Given the description of an element on the screen output the (x, y) to click on. 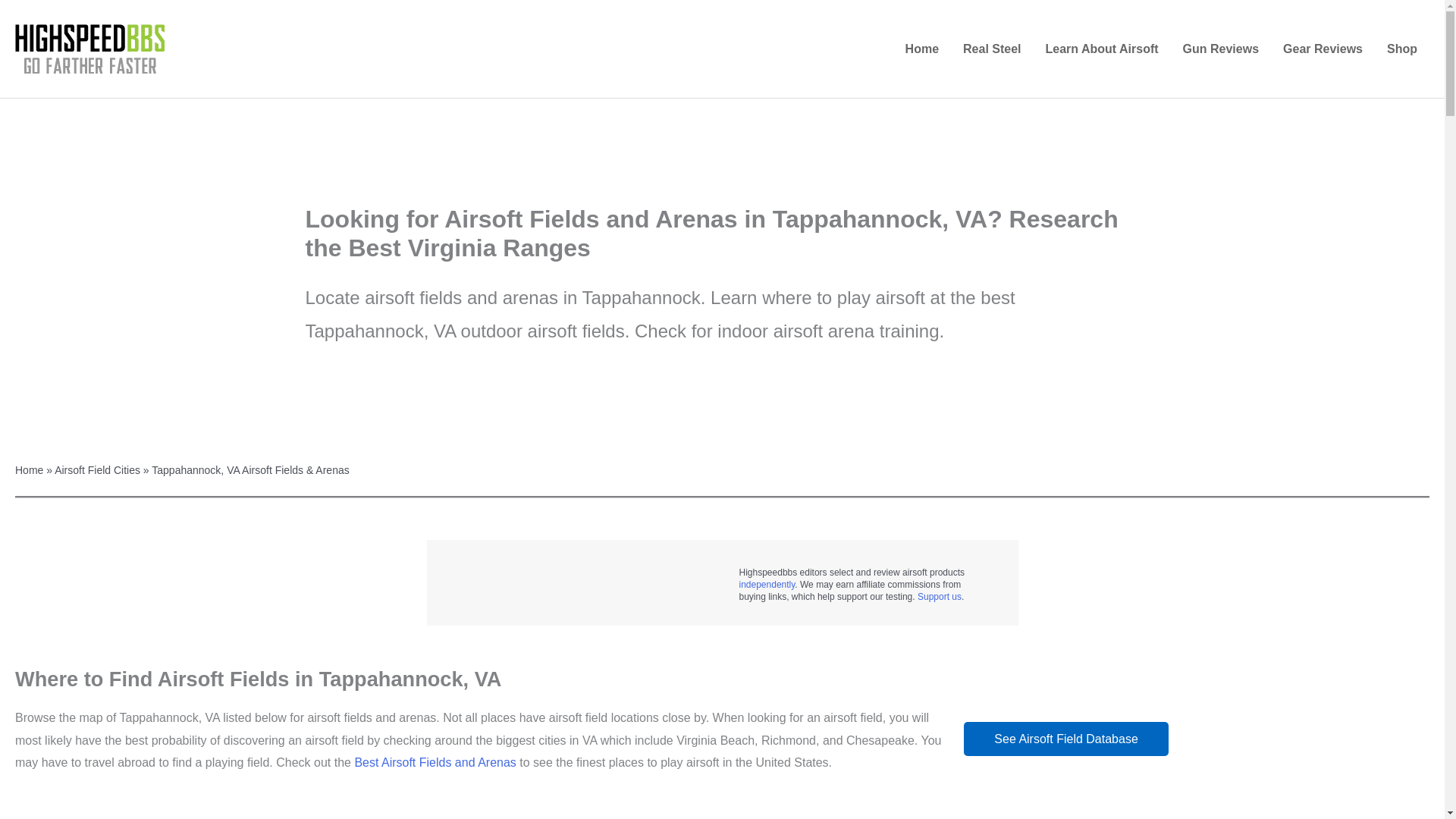
Home (921, 49)
Gun Reviews (1220, 49)
Learn About Airsoft (1101, 49)
Gear Reviews (1322, 49)
Real Steel (991, 49)
